Given the description of an element on the screen output the (x, y) to click on. 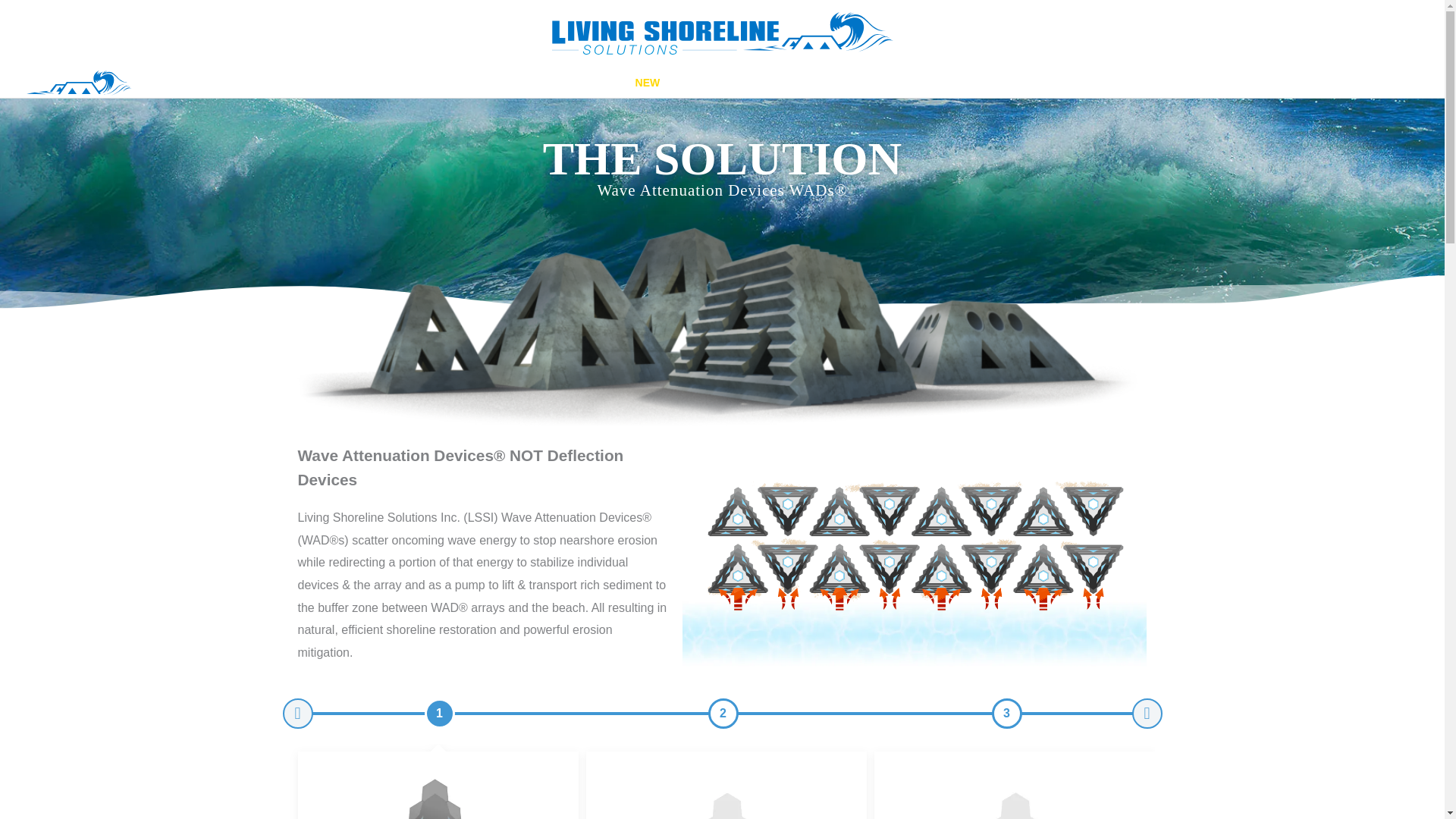
THE PROCESS (856, 82)
TIMELINE (773, 82)
HOME (440, 82)
CONTACT (941, 82)
